Given the description of an element on the screen output the (x, y) to click on. 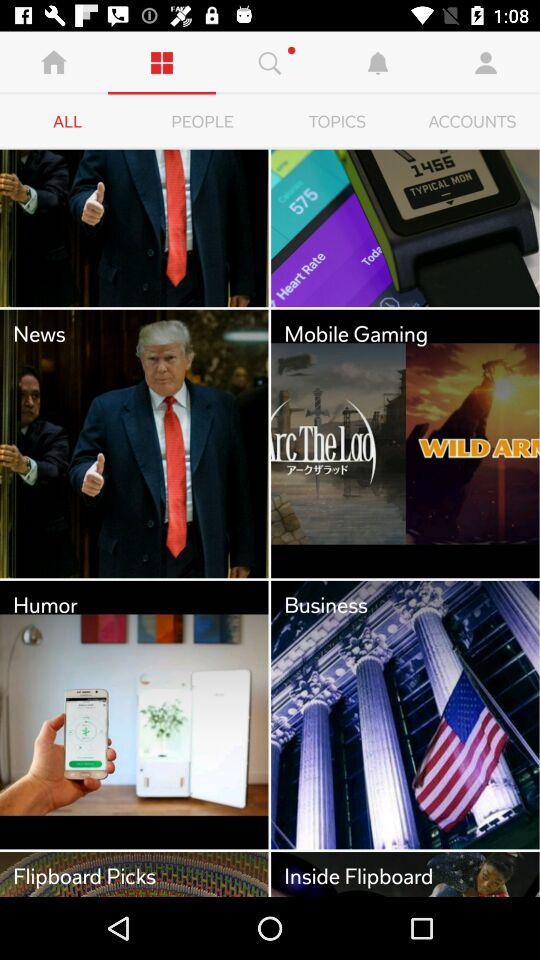
click on button which is above accounts (486, 63)
click on the button which is next to the search (378, 63)
click on the second symbol from the left corner of the page (162, 63)
select the fourth image of the page (405, 443)
click on the image above inside flipboard (405, 714)
